Given the description of an element on the screen output the (x, y) to click on. 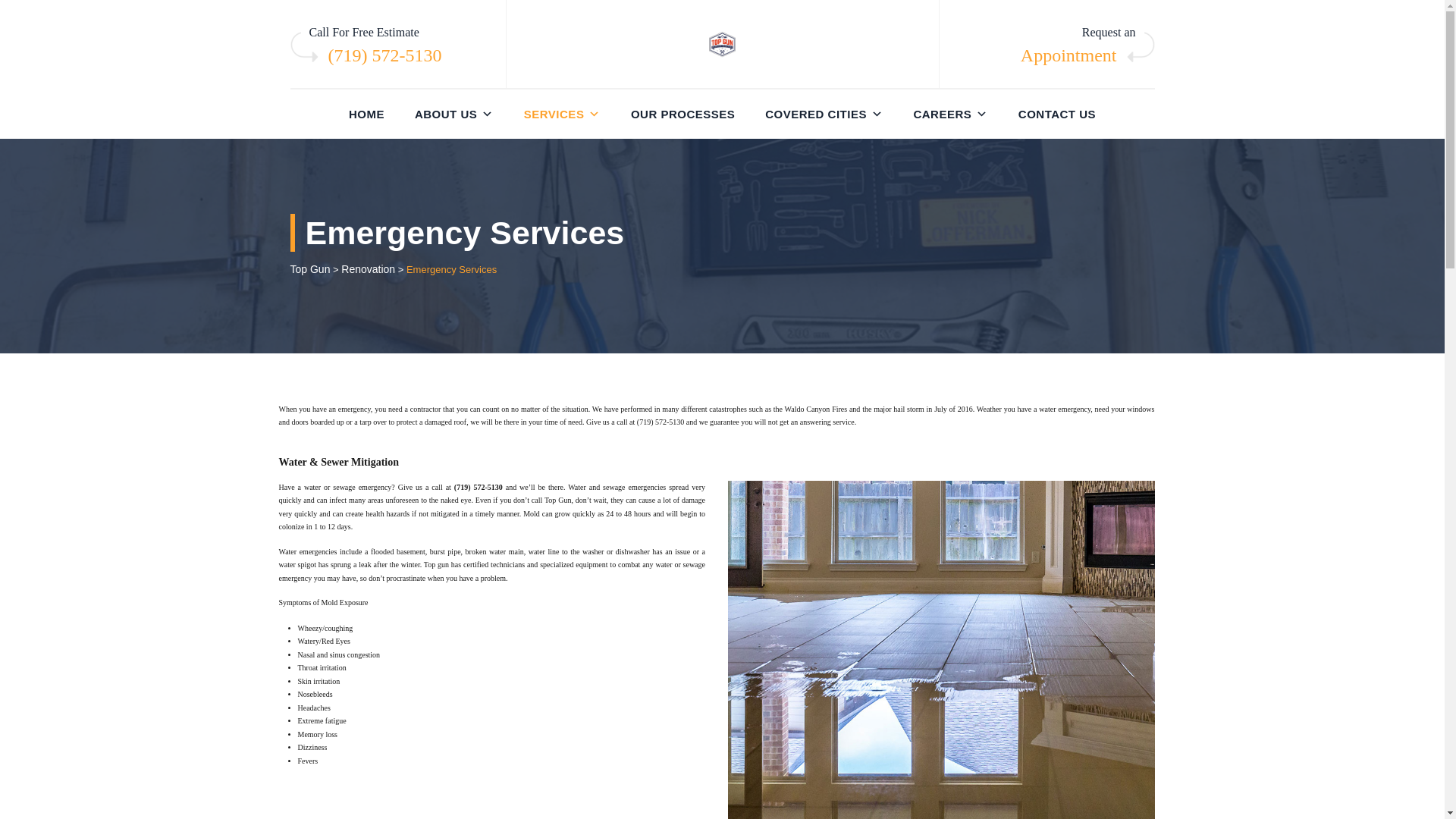
SERVICES (561, 113)
OUR PROCESSES (682, 113)
Appointment (1068, 55)
Go to the Renovation Service Category archives. (367, 268)
Go to Top Gun. (309, 268)
HOME (366, 113)
ABOUT US (453, 113)
Top Gun (721, 44)
COVERED CITIES (823, 113)
